Given the description of an element on the screen output the (x, y) to click on. 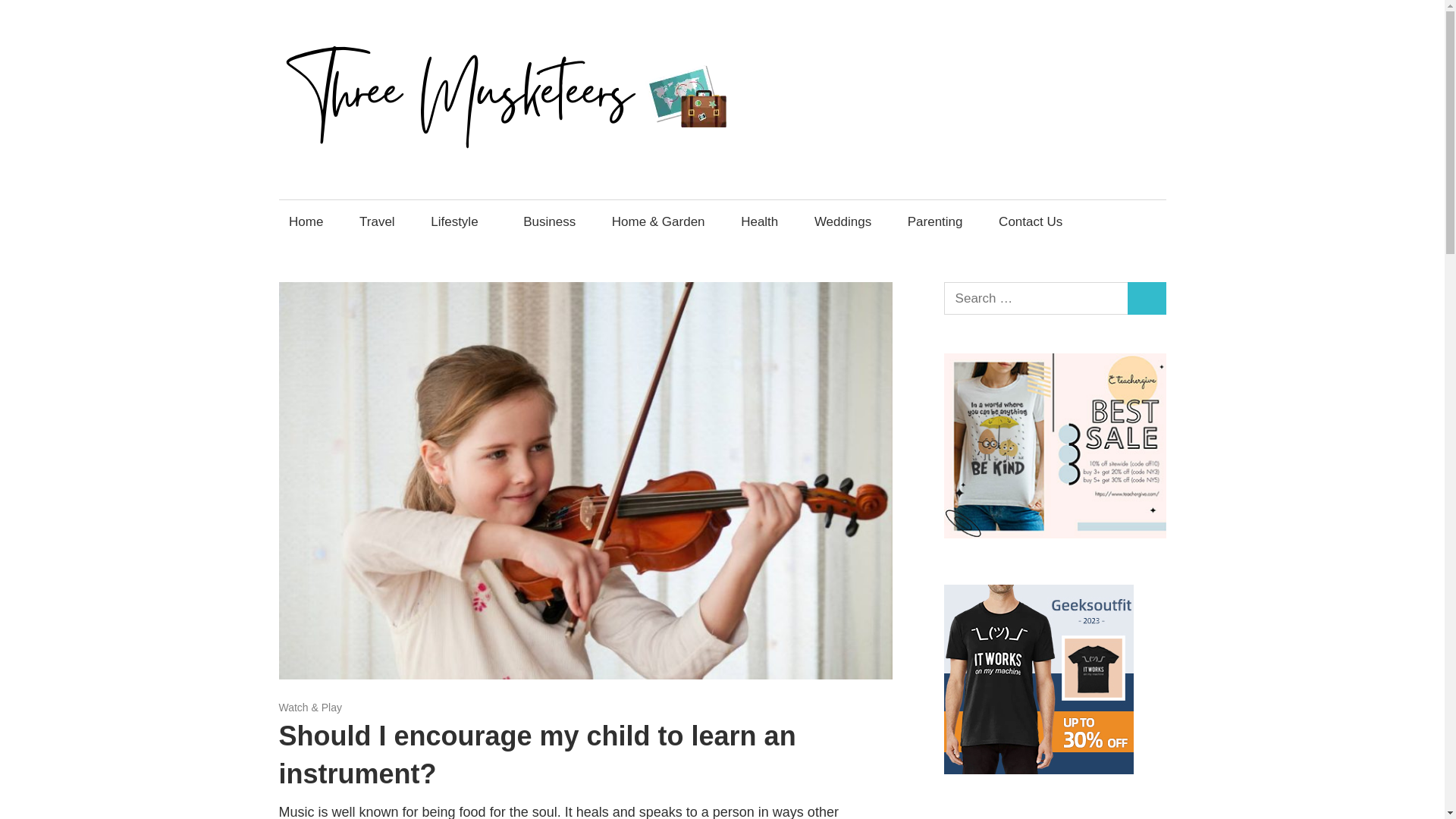
Travel (376, 221)
Home (306, 221)
Business (549, 221)
Geeksoutfit Sale 2023 (1038, 769)
Weddings (841, 221)
Parenting (934, 221)
Teachergive Sale 2023 (1054, 534)
Lifestyle (458, 221)
00:35 (305, 707)
12.05.2023 (305, 707)
